Given the description of an element on the screen output the (x, y) to click on. 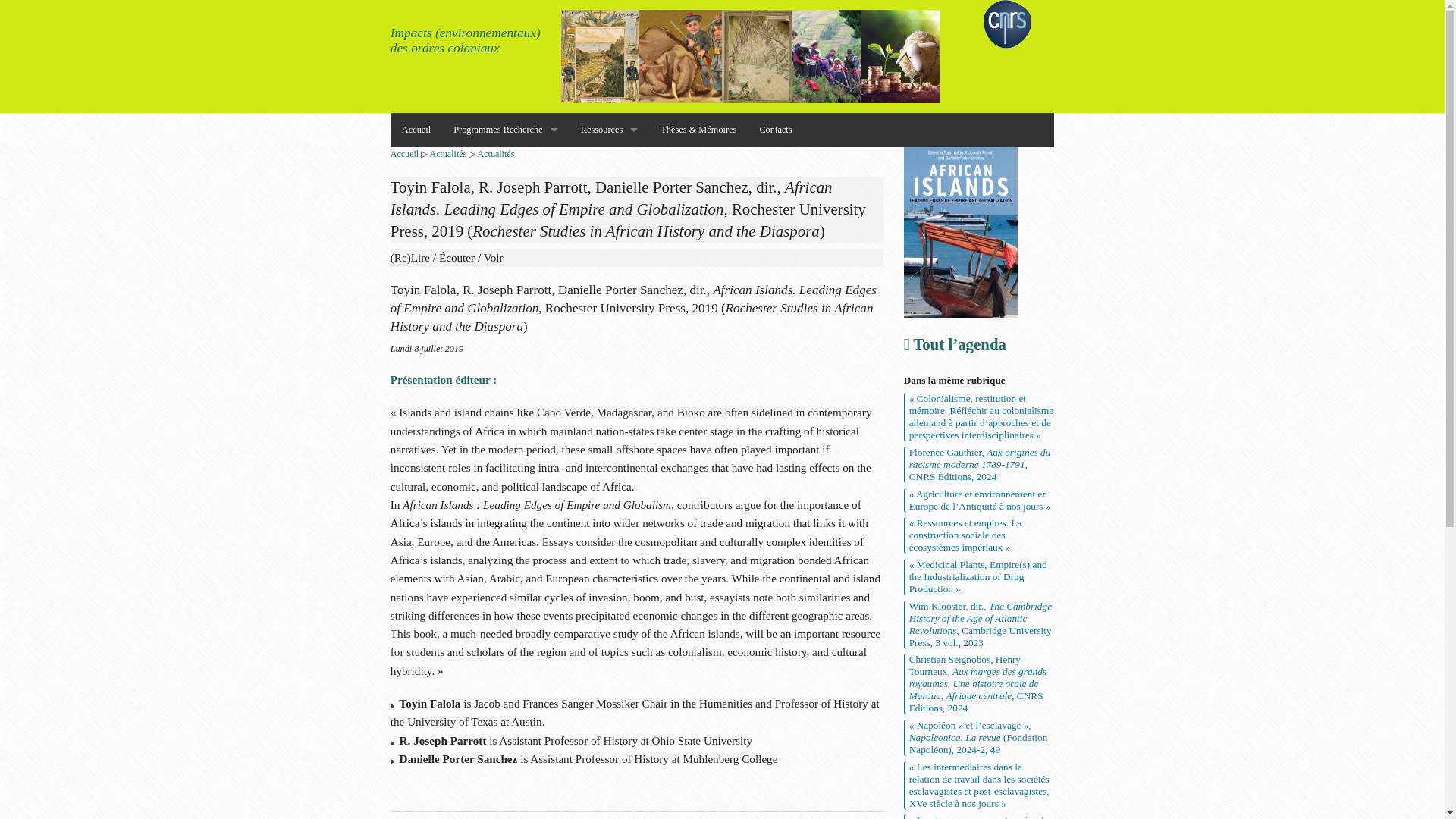
Ressources (609, 130)
Histoire environnementale (505, 197)
Archives, documentation (609, 163)
Accueil (404, 153)
Revues (609, 232)
Accueil (416, 130)
Programmes Recherche (505, 130)
Contacts (775, 130)
Impacts environnementaux de la norme (505, 232)
